Given the description of an element on the screen output the (x, y) to click on. 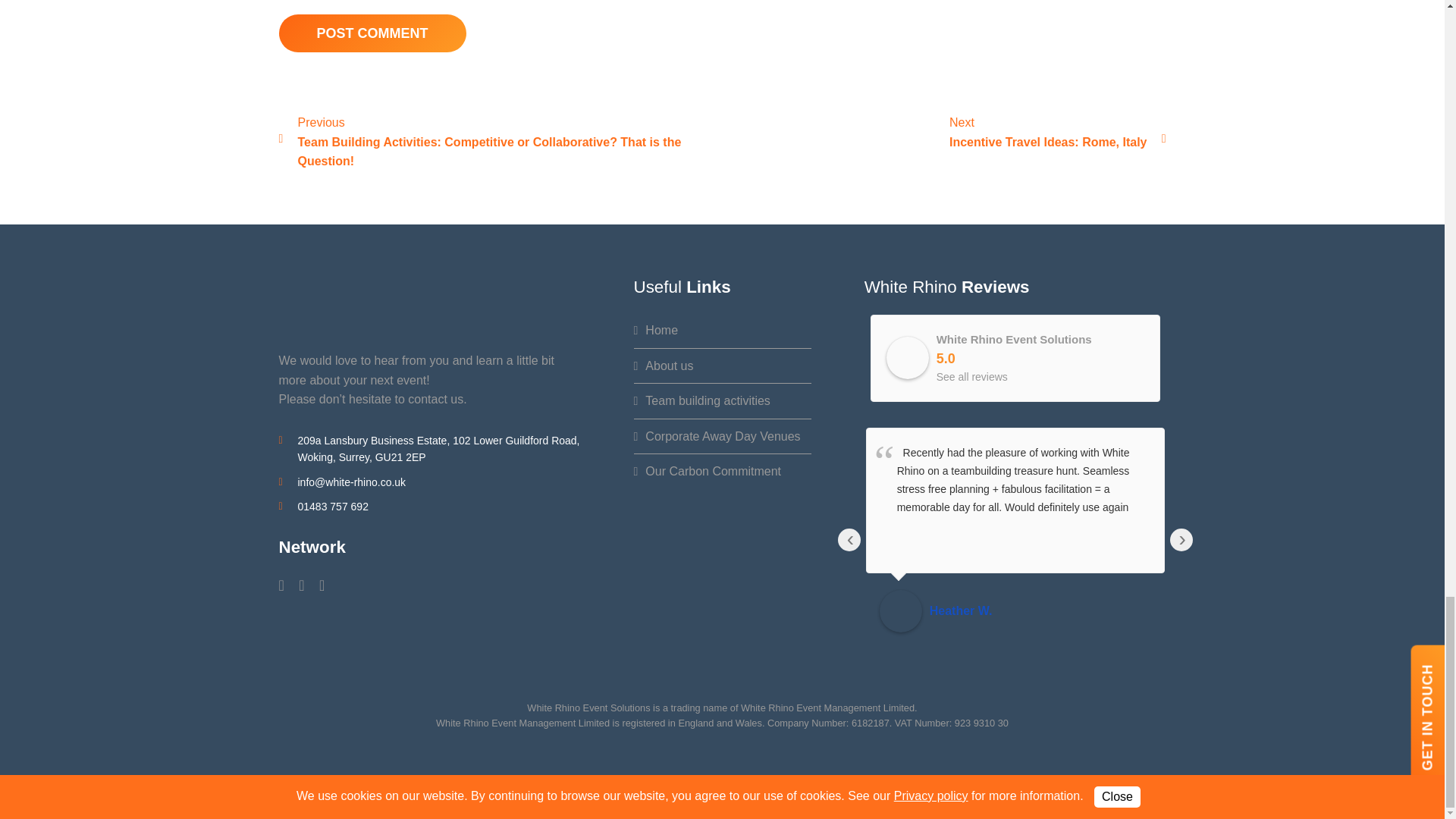
Heather W. (900, 610)
White Rhino Event Solutions (907, 357)
Post Comment (372, 33)
Heather W. (1040, 610)
Post Comment (372, 33)
